Given the description of an element on the screen output the (x, y) to click on. 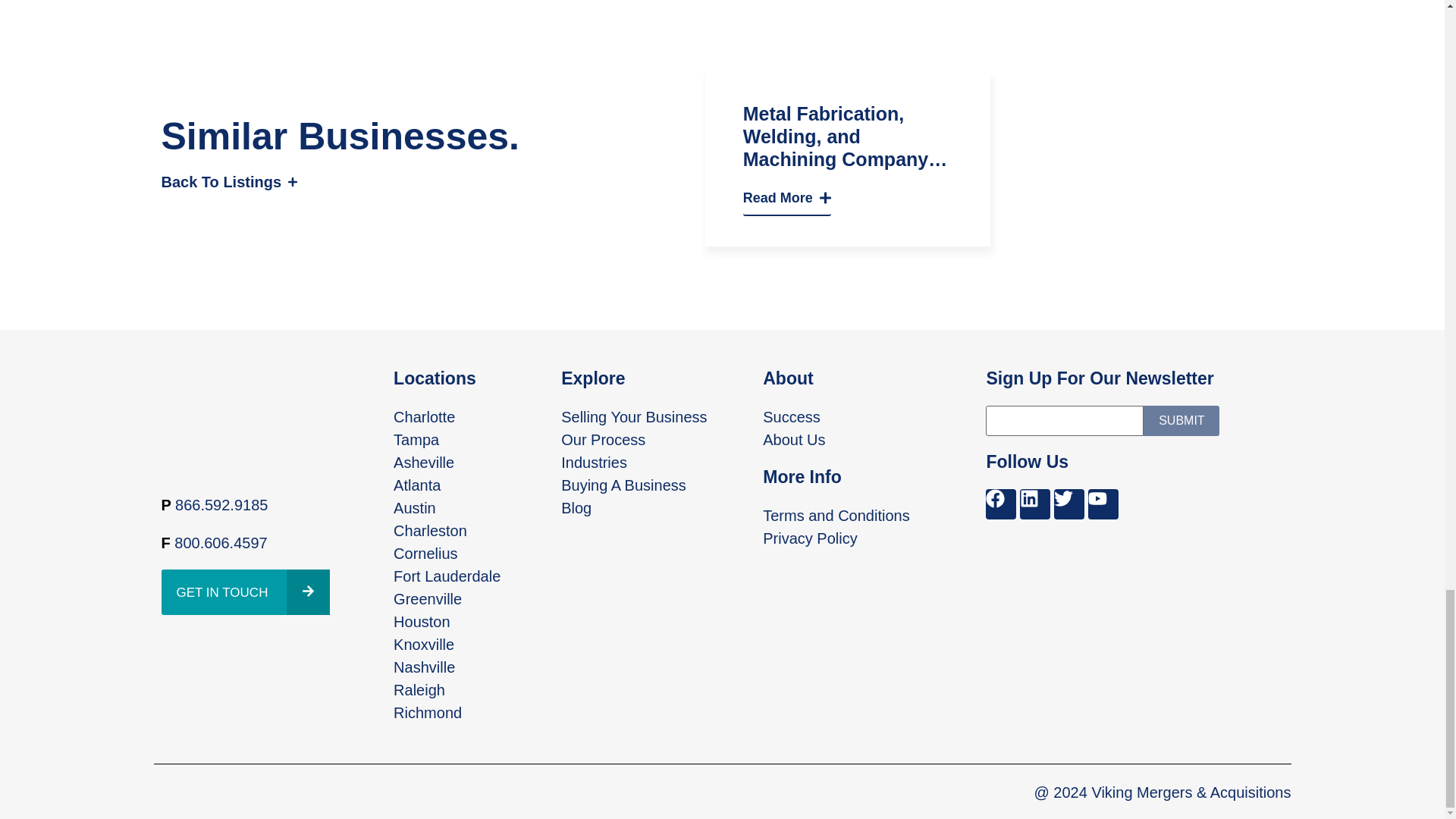
Submit (1181, 420)
Phone number (220, 504)
Phone number (220, 542)
